Given the description of an element on the screen output the (x, y) to click on. 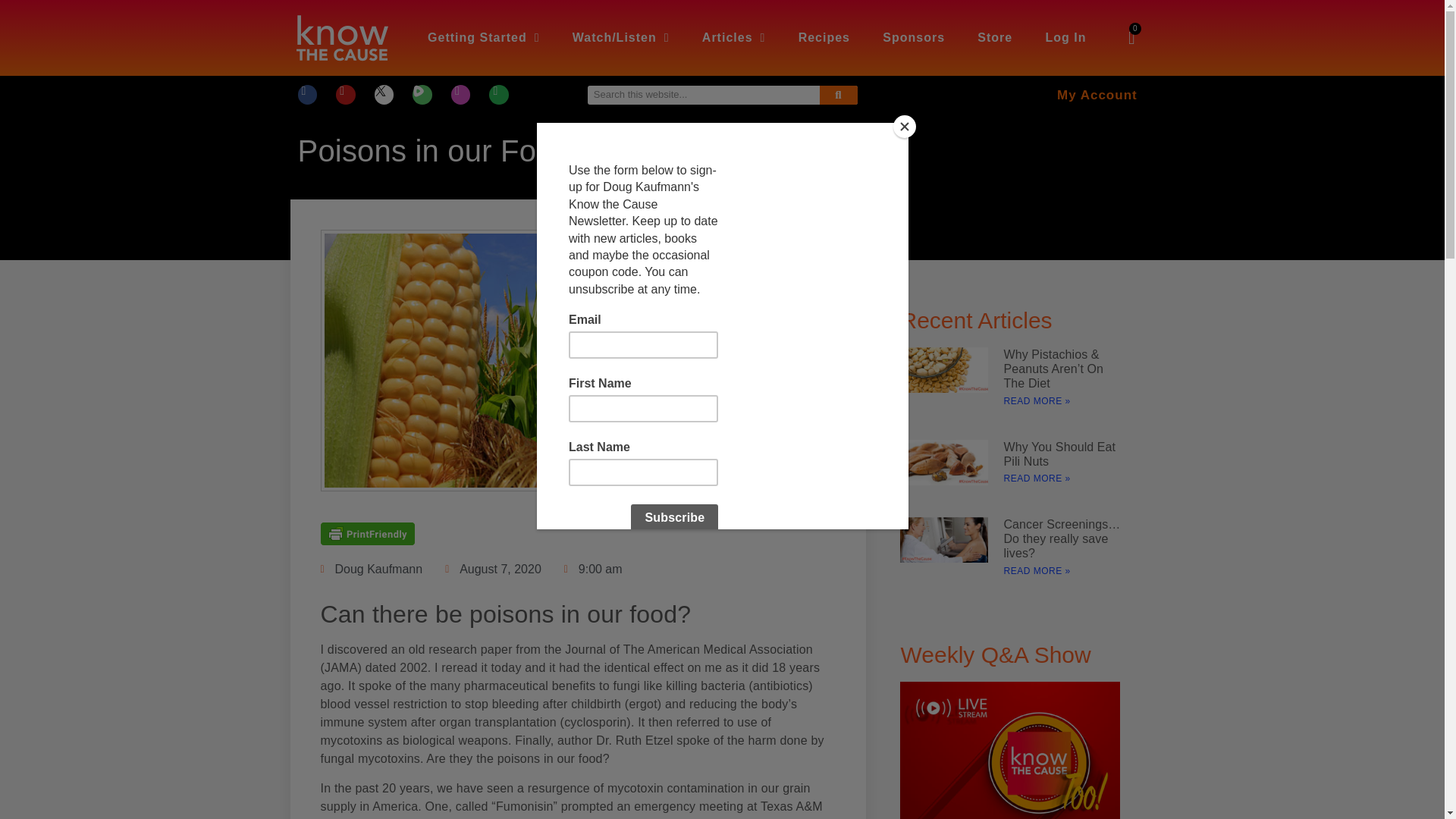
Click to Watch or Listen our latest videos and Podcasts (620, 37)
Getting Started (483, 37)
Sponsors (913, 37)
Log In (1065, 37)
Click to view the Getting Started page (483, 37)
Click to view our Articles (733, 37)
Store (994, 37)
Articles (733, 37)
Recipes (823, 37)
